Given the description of an element on the screen output the (x, y) to click on. 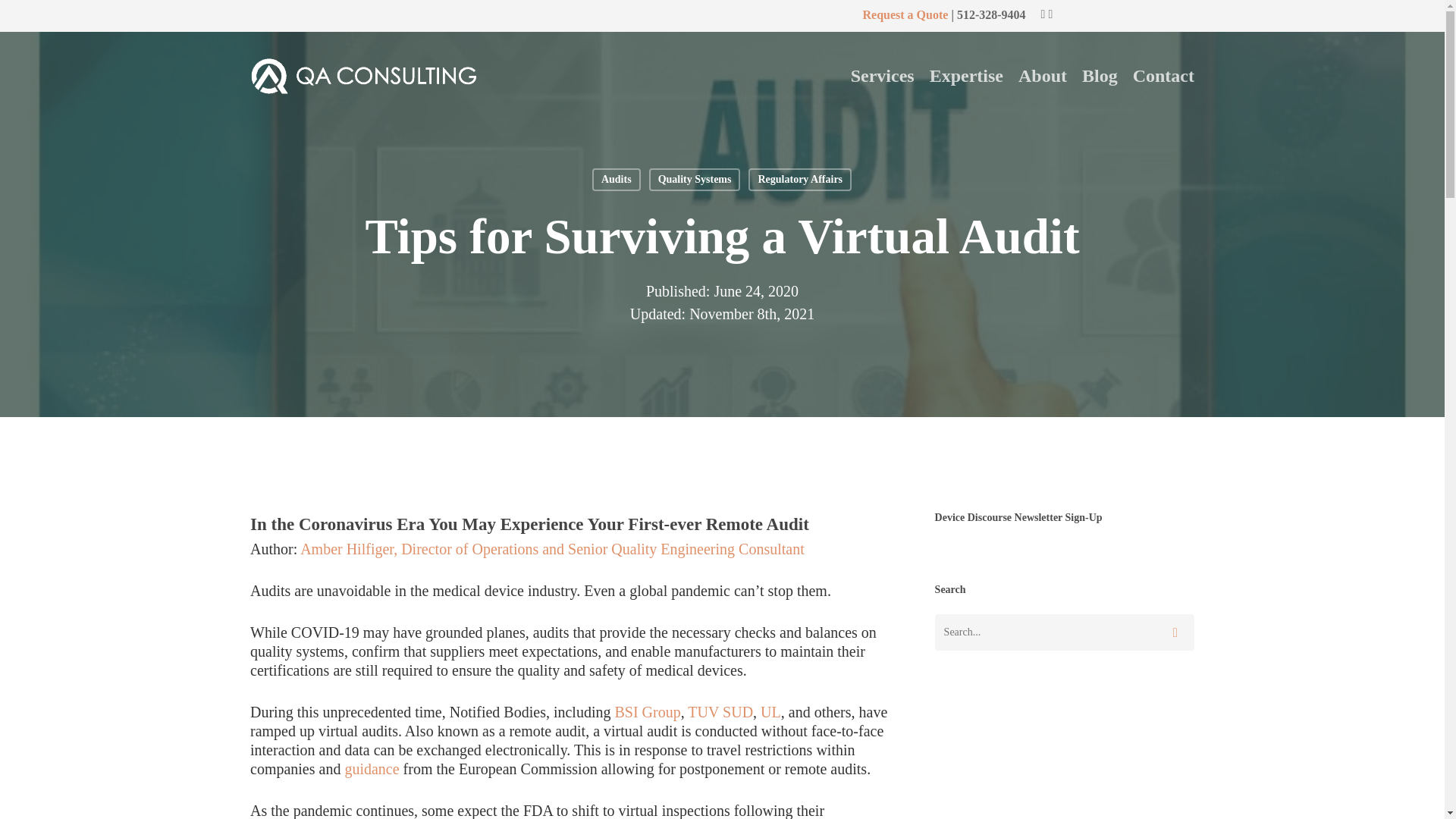
Request a Quote (904, 14)
Audits (616, 179)
512-328-9404 (991, 14)
Blog (1099, 75)
BSI Group (646, 711)
Contact (1162, 75)
Quality Systems (695, 179)
TUV SUD (719, 711)
